Given the description of an element on the screen output the (x, y) to click on. 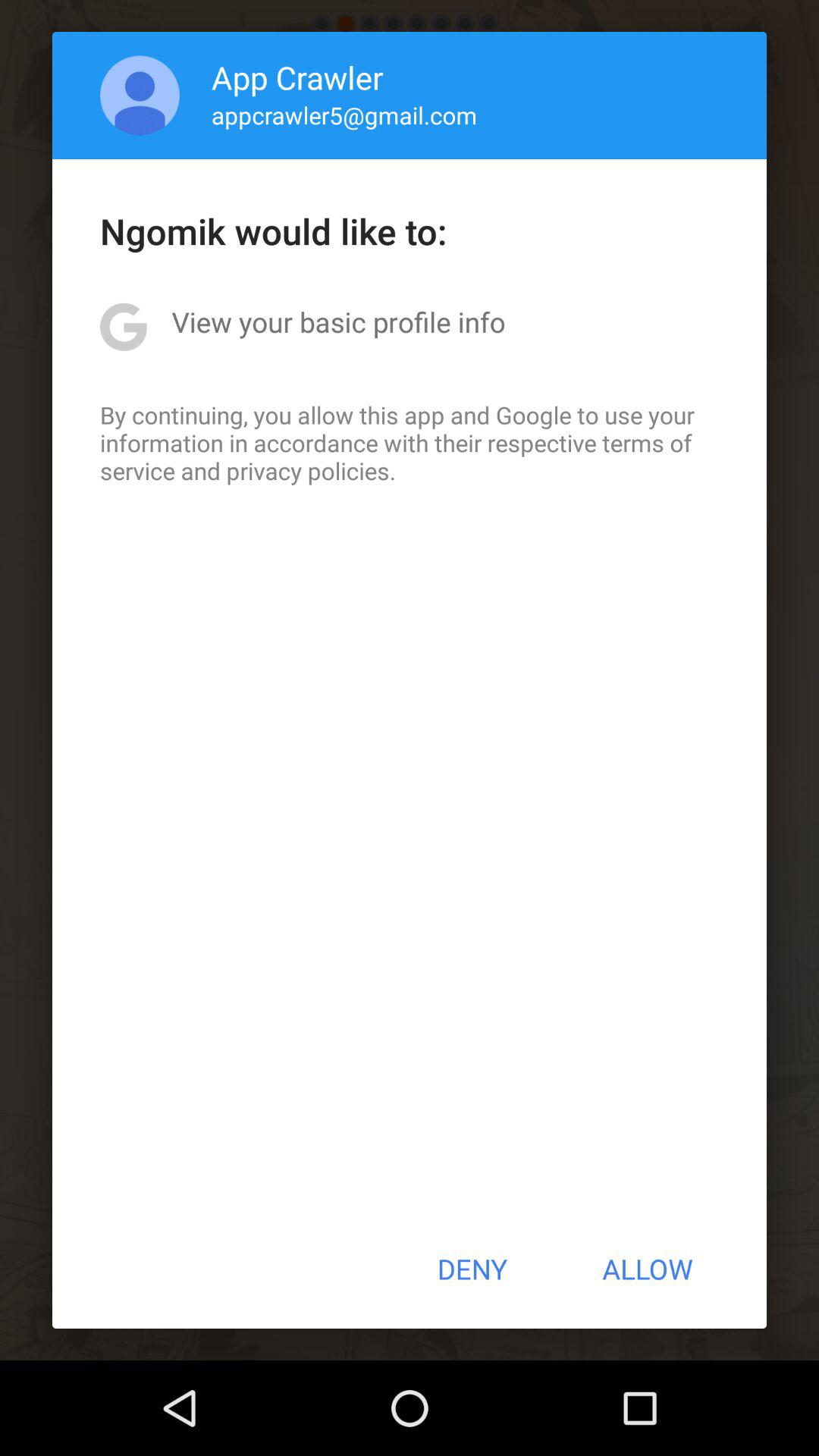
swipe until the appcrawler5@gmail.com (344, 114)
